Given the description of an element on the screen output the (x, y) to click on. 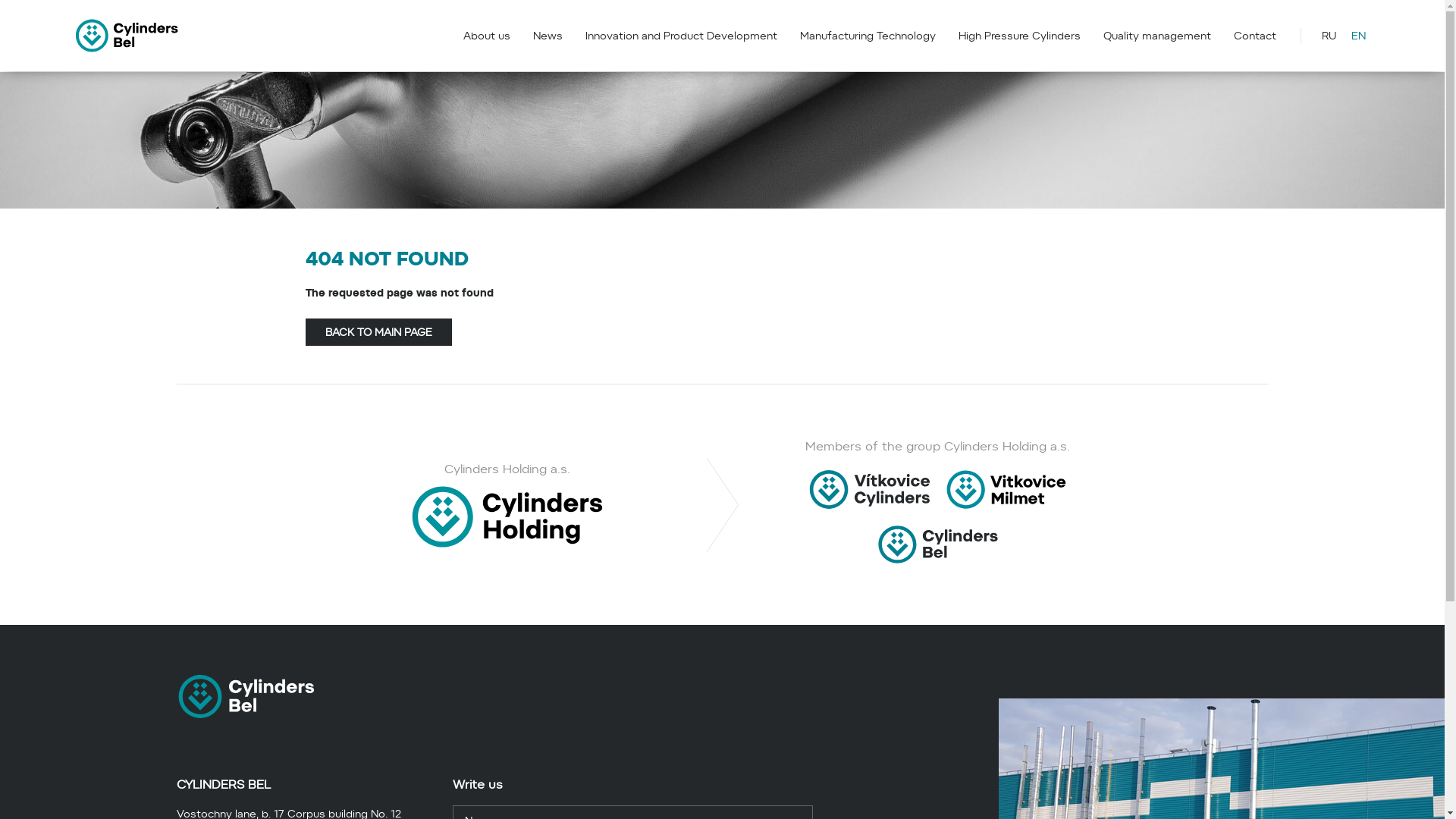
Cylinders Holding a.s. Element type: text (506, 504)
High Pressure Cylinders Element type: text (1019, 35)
News Element type: text (547, 35)
EN Element type: text (1358, 35)
Quality management Element type: text (1157, 35)
Manufacturing Technology Element type: text (867, 35)
RU Element type: text (1328, 35)
About us Element type: text (486, 35)
Contact Element type: text (1254, 35)
Innovation and Product Development Element type: text (681, 35)
BACK TO MAIN PAGE Element type: text (377, 331)
